Given the description of an element on the screen output the (x, y) to click on. 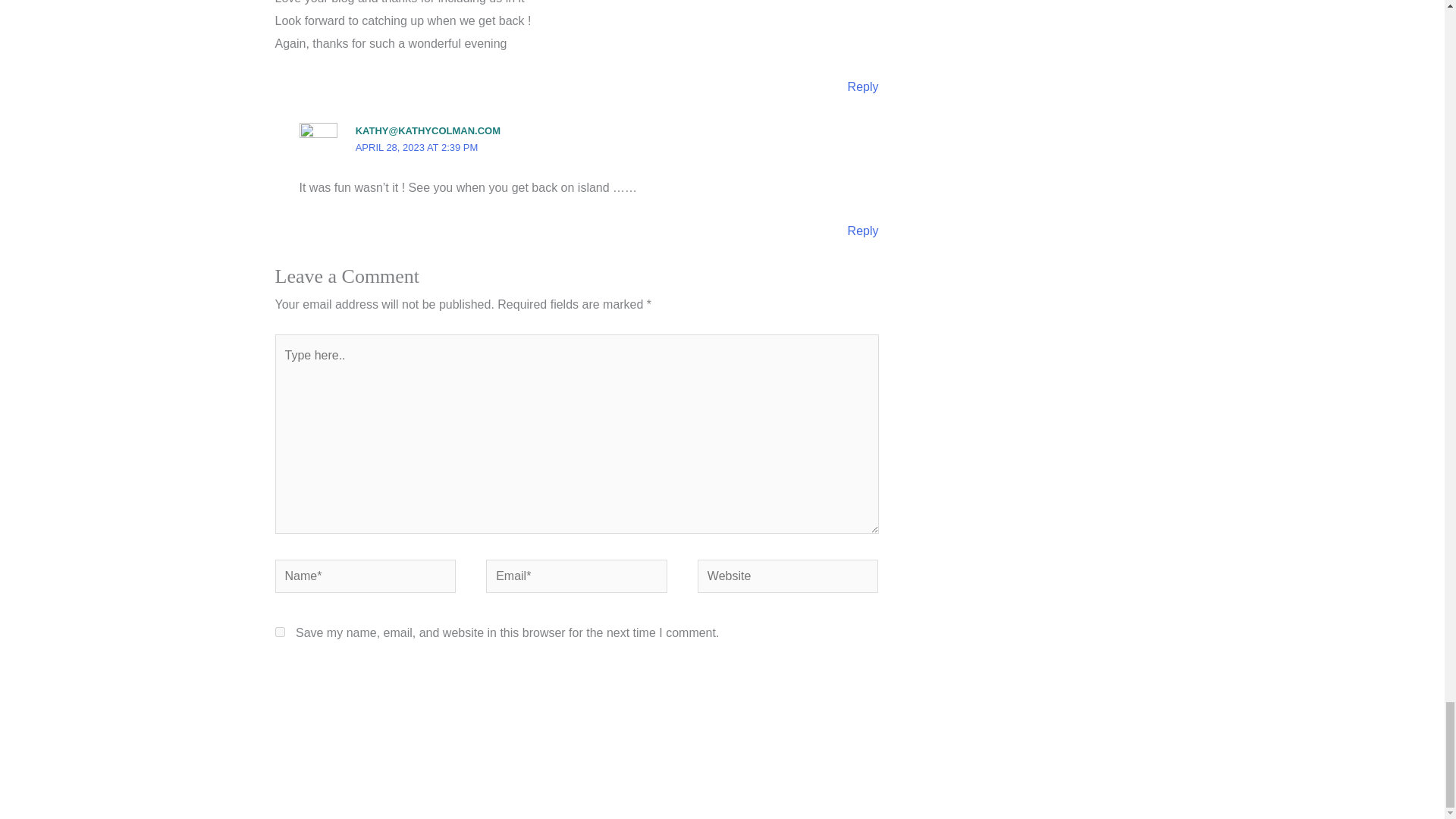
APRIL 28, 2023 AT 2:39 PM (417, 147)
Reply (863, 230)
Reply (863, 86)
yes (279, 632)
